Given the description of an element on the screen output the (x, y) to click on. 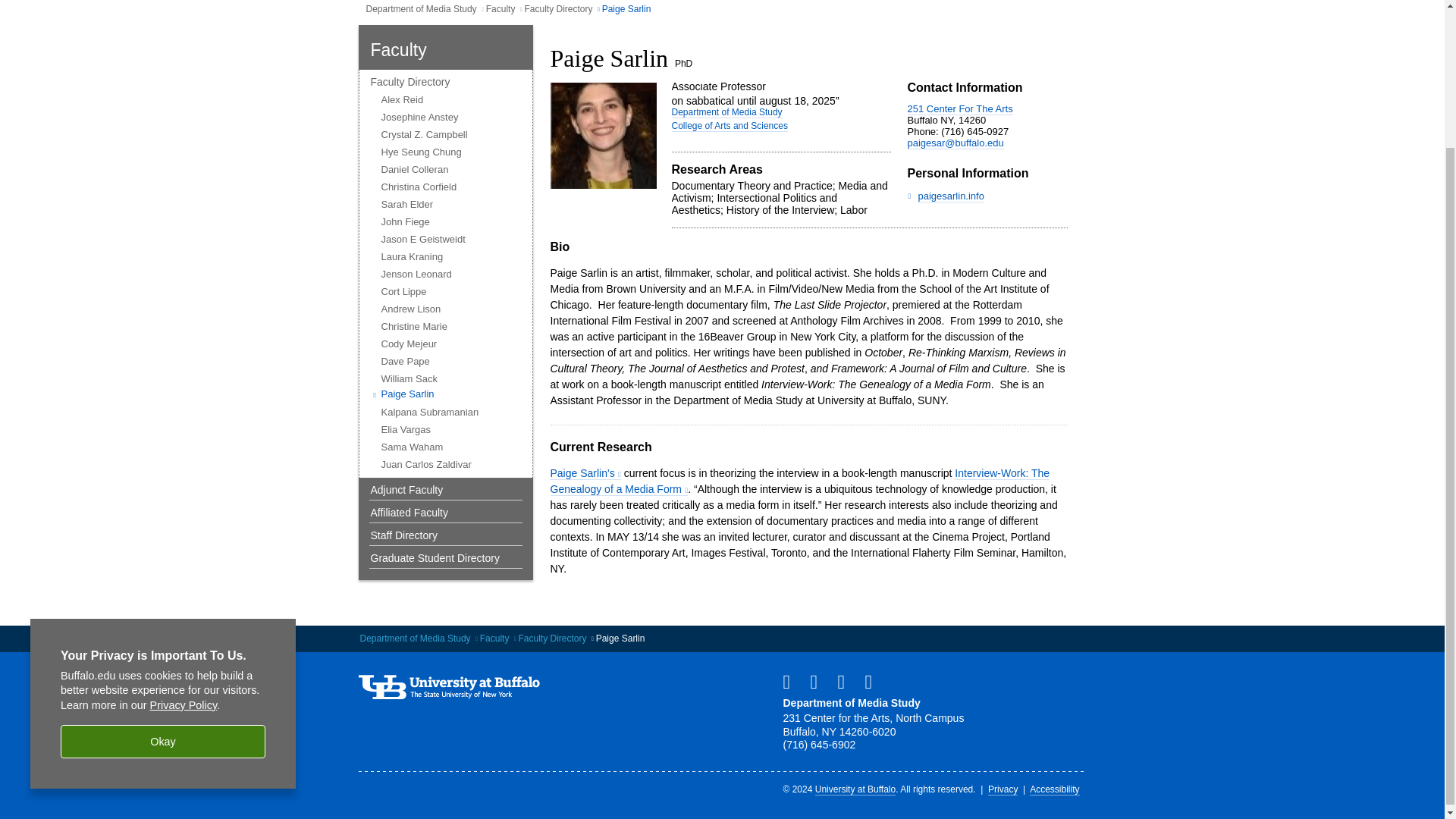
Instagram (847, 681)
This link opens a page in a new window or tab. (799, 481)
This link opens a page in a new window or tab. (585, 472)
Media Study Facebook (792, 681)
Media Study YouTube Channel (819, 681)
